Given the description of an element on the screen output the (x, y) to click on. 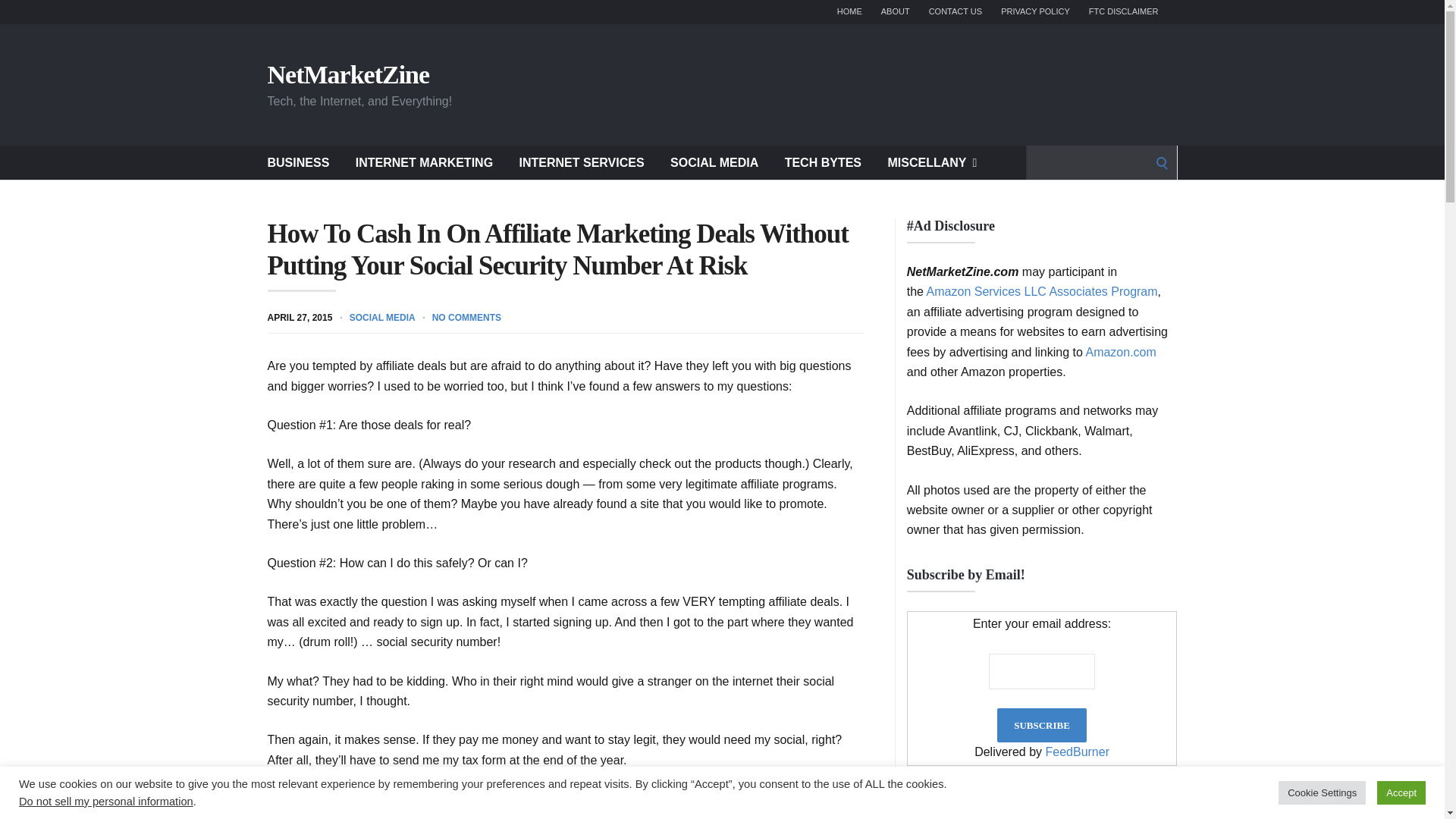
SOCIAL MEDIA (381, 317)
NetMarketZine (347, 74)
NO COMMENTS (466, 317)
ABOUT (895, 11)
INTERNET SERVICES (582, 162)
HOME (849, 11)
SOCIAL MEDIA (713, 162)
Search (16, 17)
FTC DISCLAIMER (1123, 11)
PRIVACY POLICY (1035, 11)
BUSINESS (297, 162)
Subscribe (1041, 725)
MISCELLANY (931, 162)
CONTACT US (955, 11)
TECH BYTES (822, 162)
